Given the description of an element on the screen output the (x, y) to click on. 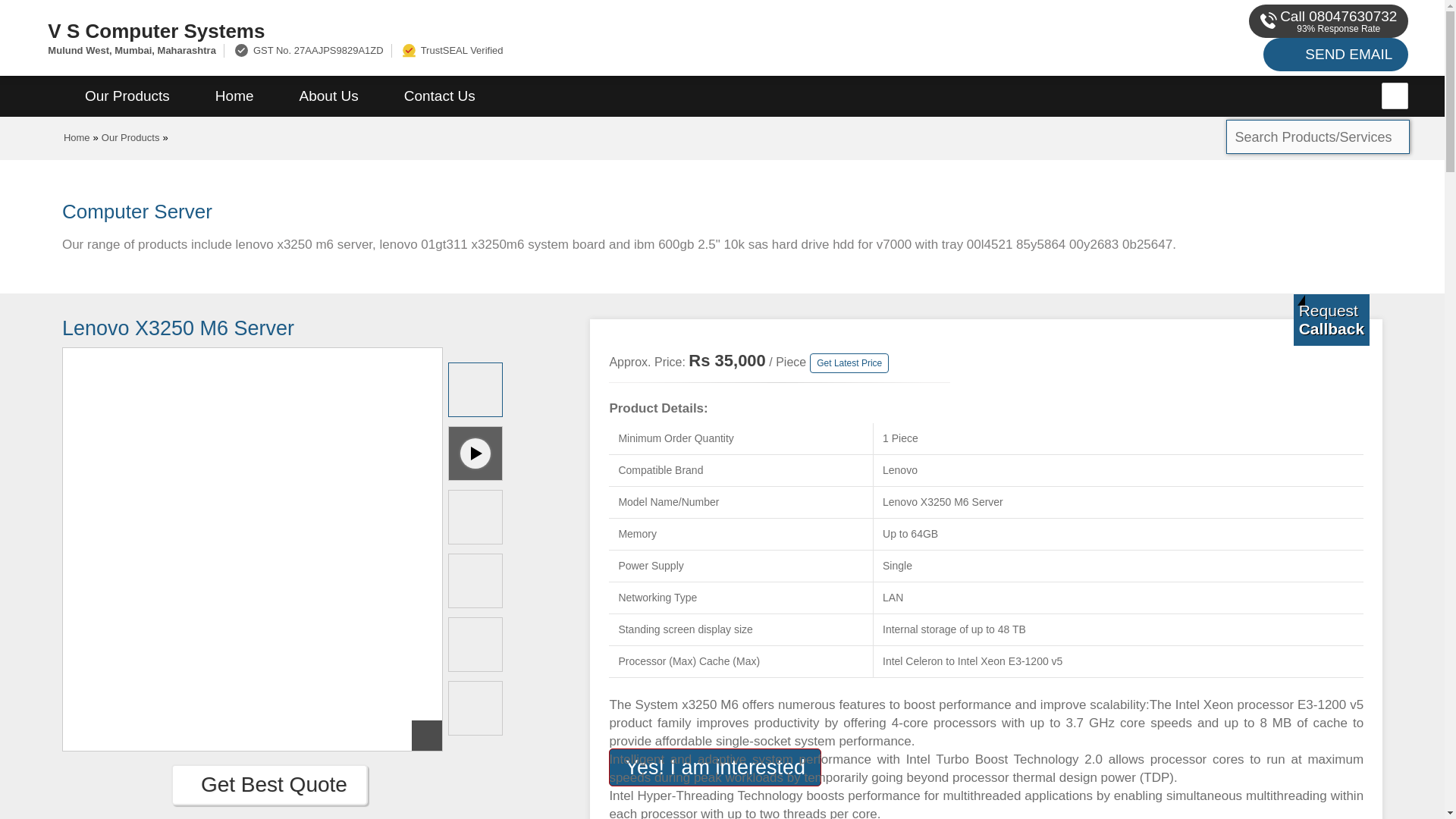
Our Products (127, 96)
Home (77, 137)
V S Computer Systems (485, 31)
Get a Call from us (1332, 319)
Home (234, 96)
About Us (328, 96)
Our Products (130, 137)
Contact Us (439, 96)
